Given the description of an element on the screen output the (x, y) to click on. 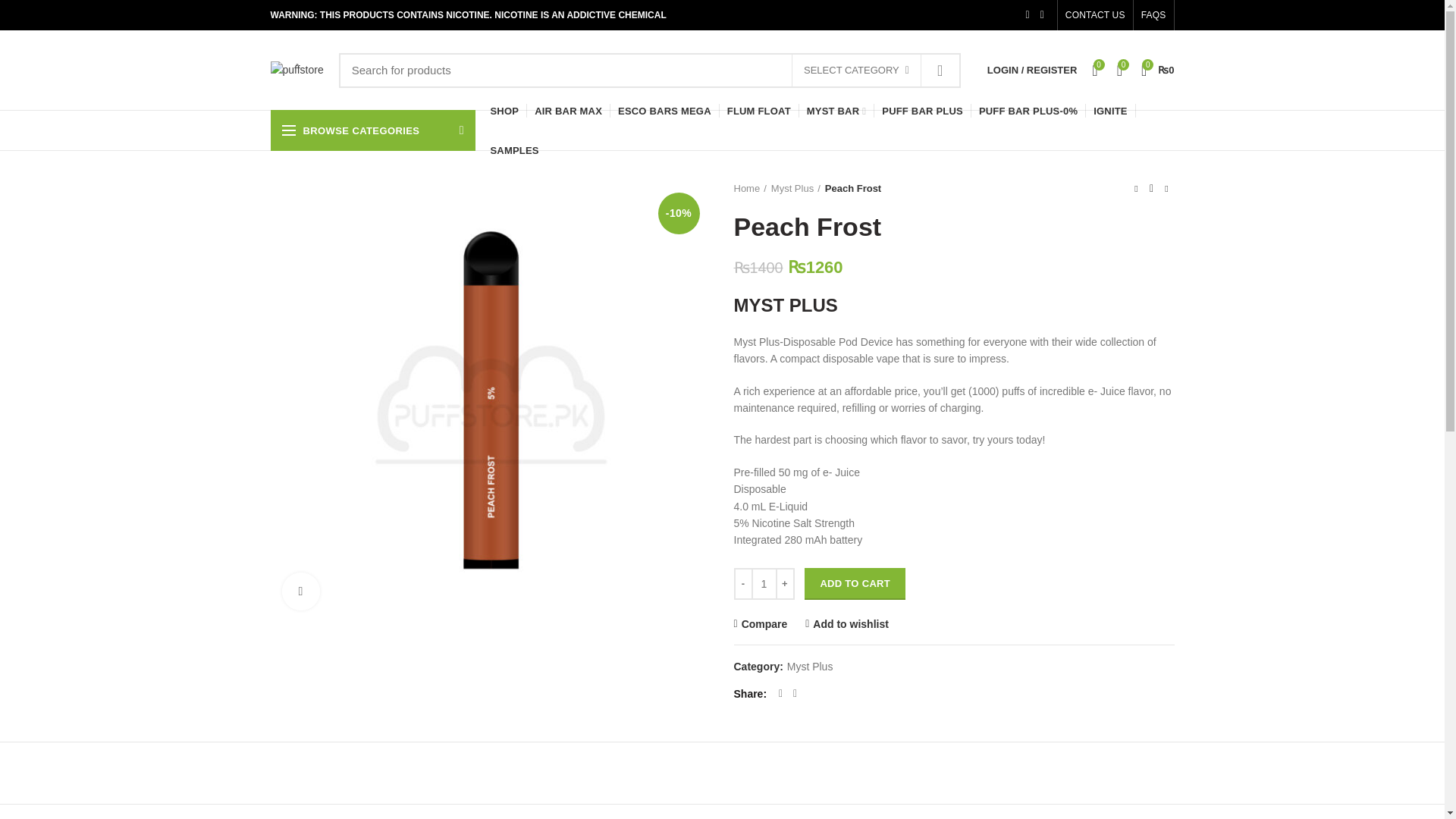
FAQS (1153, 15)
SELECT CATEGORY (856, 70)
SELECT CATEGORY (856, 70)
My account (1031, 69)
Shopping cart (1158, 69)
CONTACT US (1095, 15)
SEARCH (940, 70)
